Given the description of an element on the screen output the (x, y) to click on. 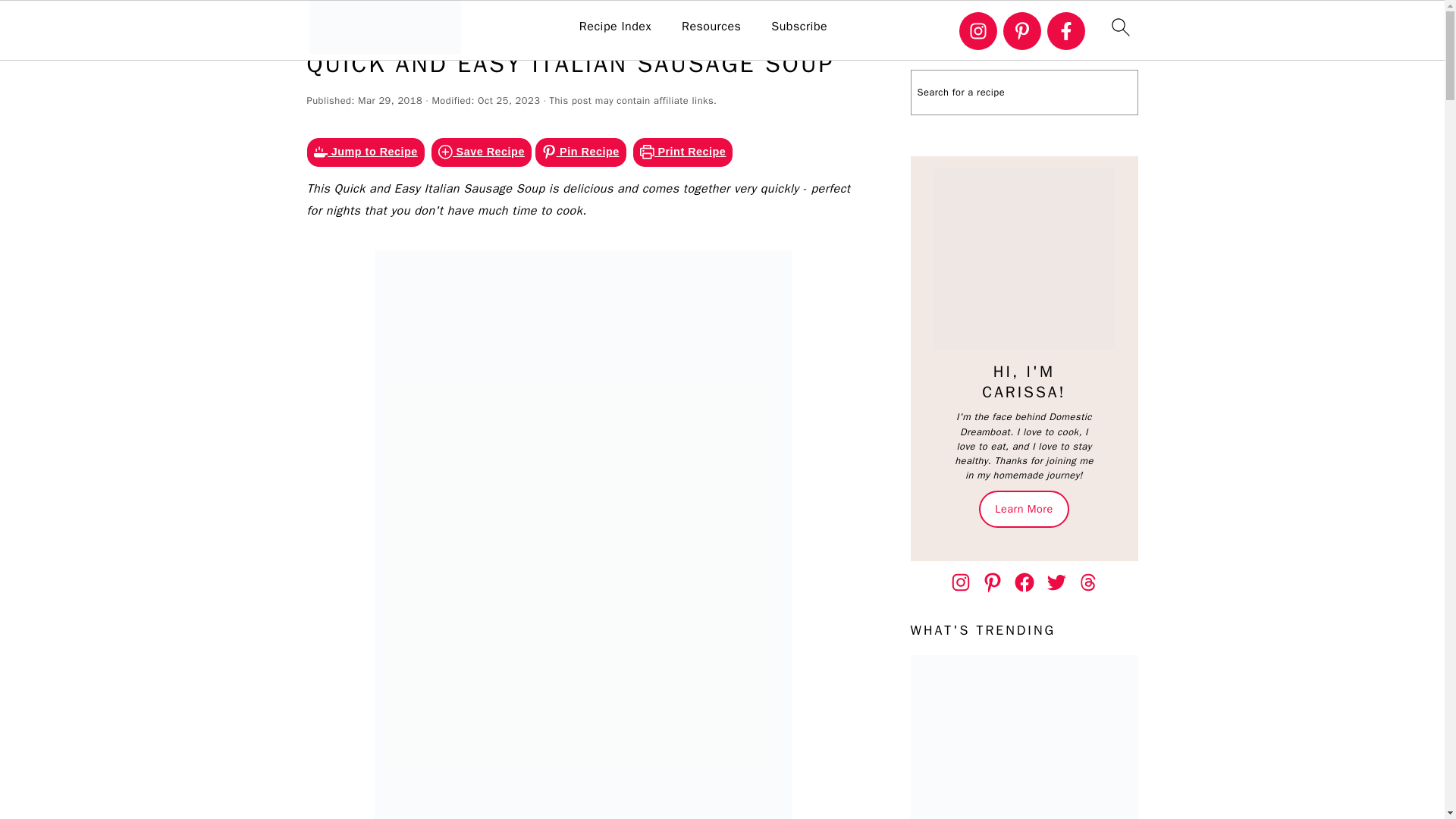
Jump to Recipe (364, 152)
Jump to Recipe (364, 152)
Recipe Index (614, 26)
search icon (1119, 26)
Subscribe (799, 26)
Pin Recipe (580, 152)
Resources (711, 26)
Soups and Stews (552, 21)
Dish Type (461, 21)
Quick and Easy Korean Beef and Mushroom Bowls (1023, 737)
Save Recipe (480, 152)
Modern Sidebar (1024, 258)
Home (403, 21)
